Given the description of an element on the screen output the (x, y) to click on. 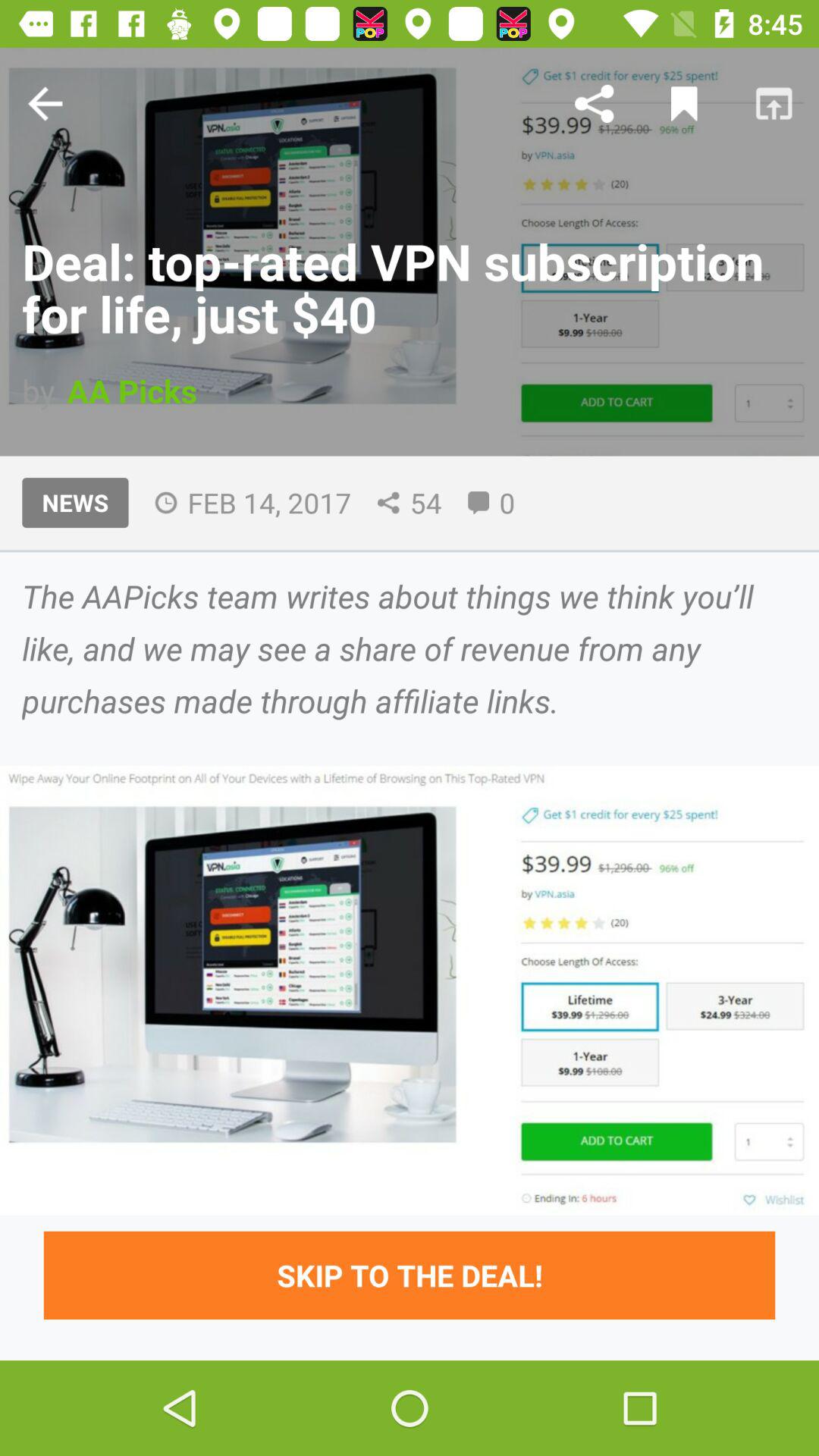
launch item above deal top rated item (594, 103)
